Given the description of an element on the screen output the (x, y) to click on. 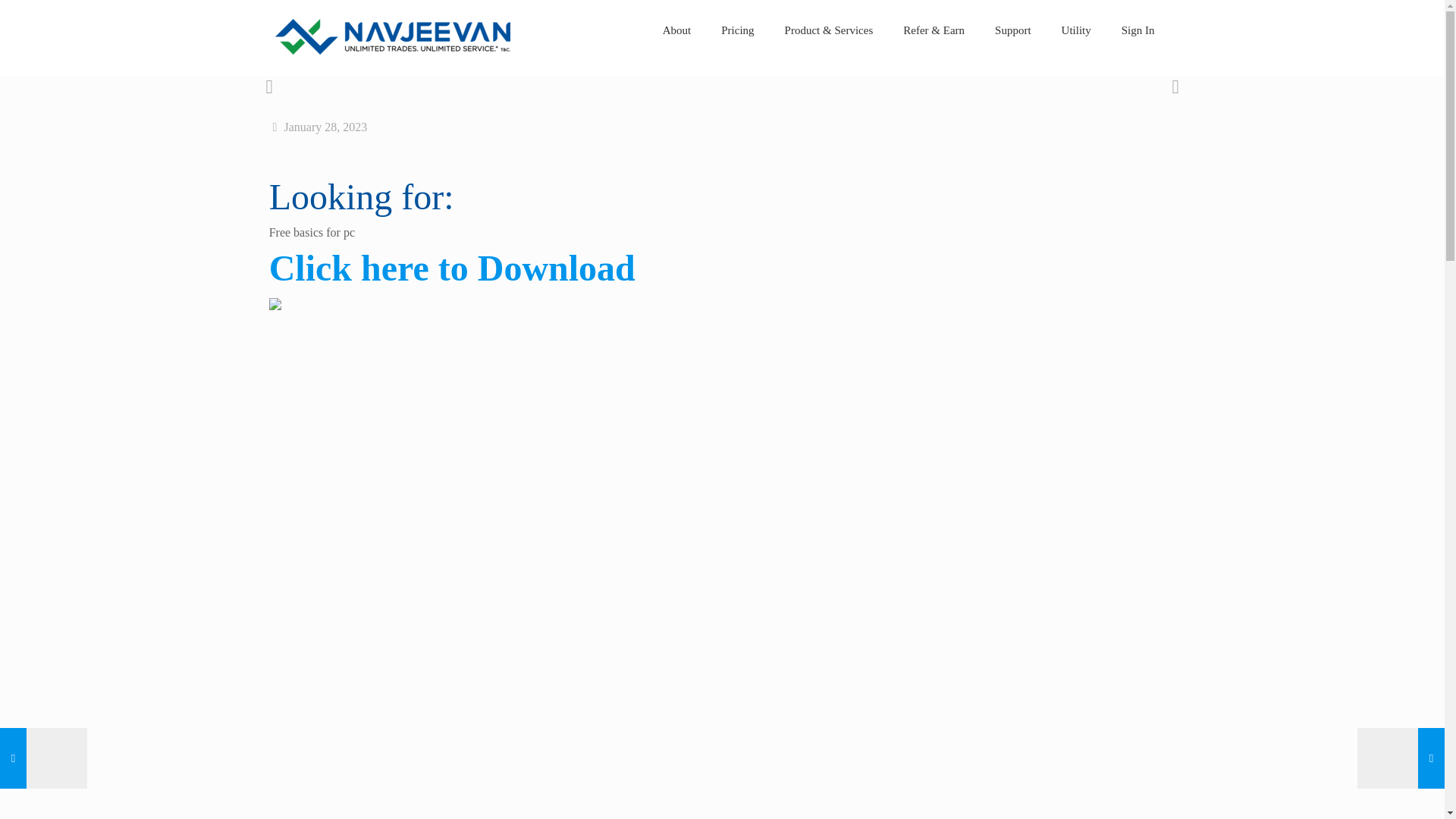
About (676, 30)
Support (1012, 30)
Click here to Download (451, 276)
Sign In (1138, 30)
Utility (1076, 30)
Navjeevan (392, 50)
Pricing (737, 30)
